Given the description of an element on the screen output the (x, y) to click on. 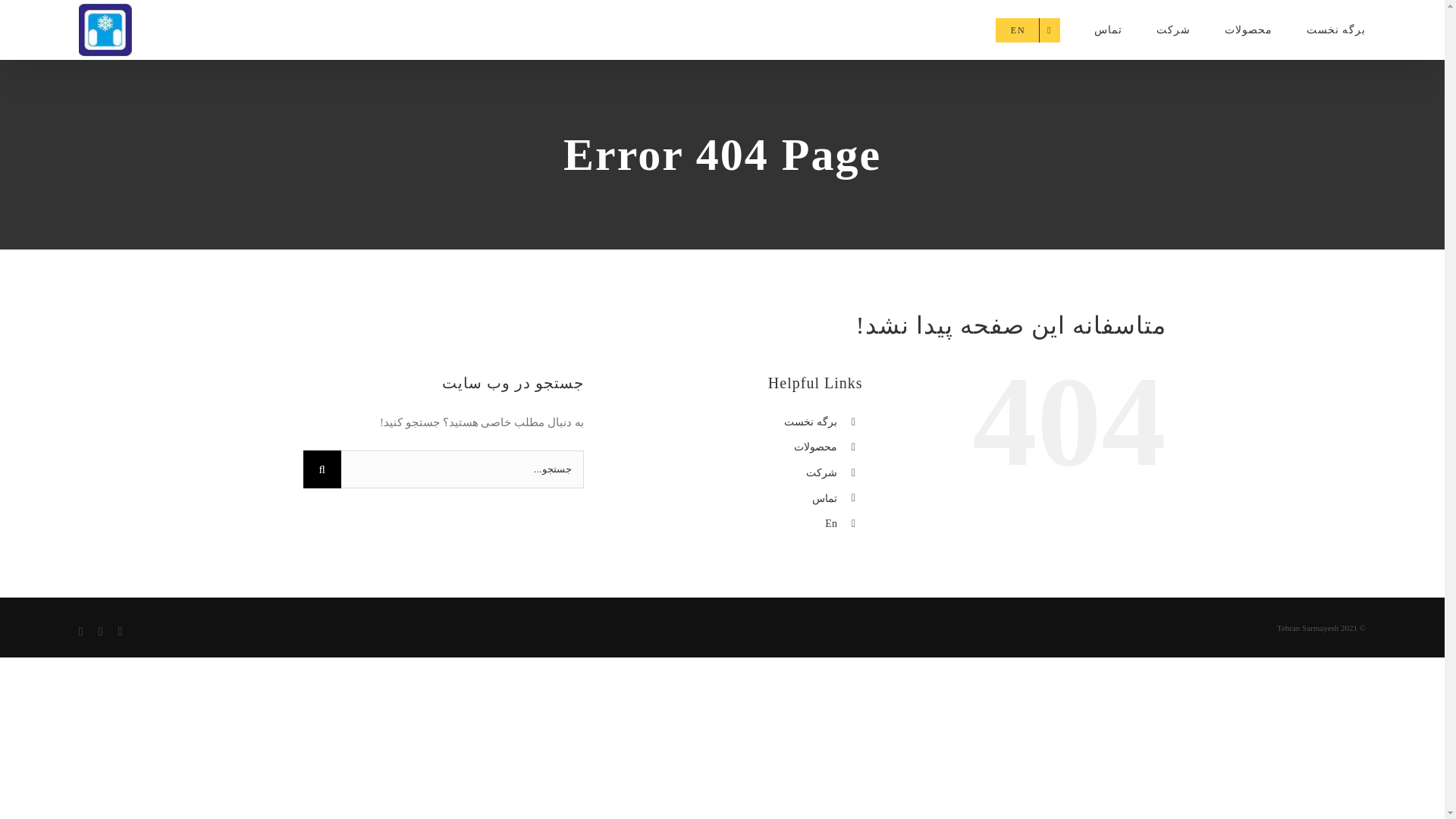
EN (1027, 29)
En (831, 523)
